Given the description of an element on the screen output the (x, y) to click on. 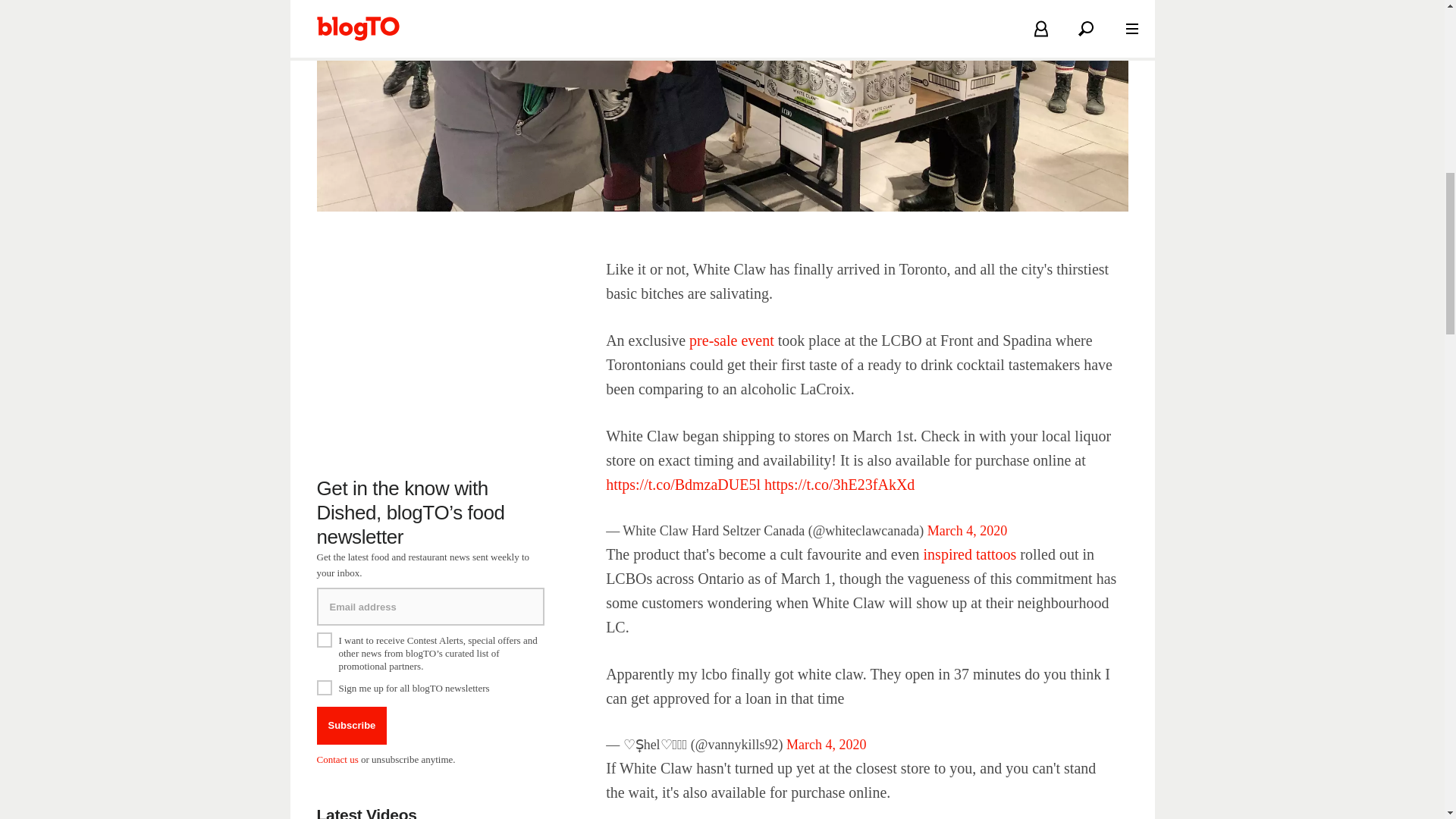
3rd party ad content (430, 351)
Subscribe (352, 725)
